Given the description of an element on the screen output the (x, y) to click on. 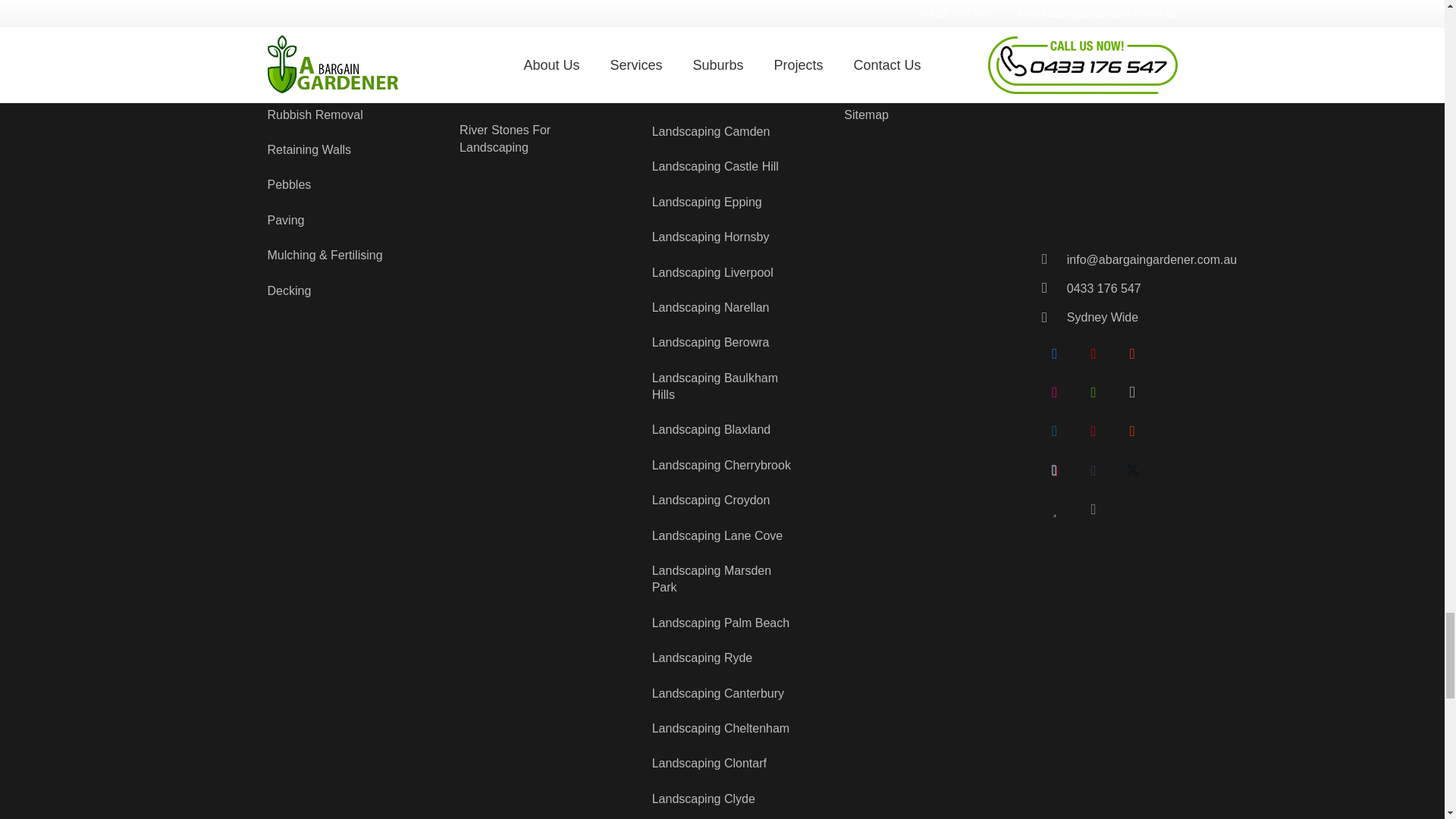
Houzz (1093, 392)
Facebook (1054, 353)
YouTube (1093, 353)
Google (1131, 353)
Flickr (1054, 392)
